Given the description of an element on the screen output the (x, y) to click on. 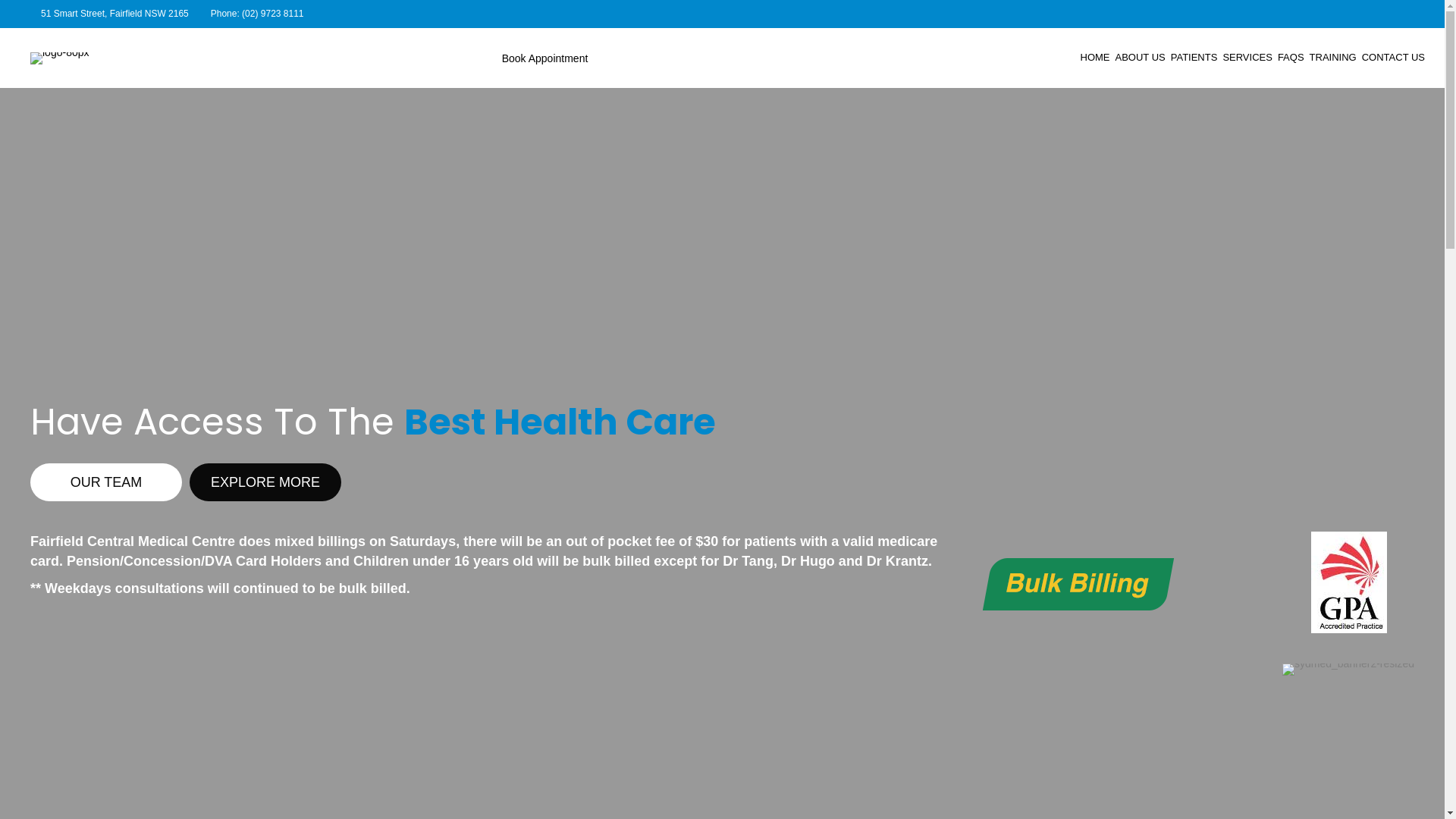
Phone: (02) 9723 8111 Element type: text (257, 14)
ABOUT US Element type: text (1140, 57)
Book Appointment Element type: text (545, 58)
gpa-logo-2 Element type: hover (1348, 582)
TRAINING Element type: text (1332, 57)
MyHealth-Bulk-Bills Element type: hover (1078, 584)
sydmed_banner2-resized Element type: hover (1348, 669)
HOME Element type: text (1094, 57)
EXPLORE MORE Element type: text (265, 482)
OUR TEAM Element type: text (106, 482)
logo-80px Element type: hover (59, 58)
51 Smart Street, Fairfield NSW 2165 Element type: text (114, 14)
PATIENTS Element type: text (1194, 57)
CONTACT US Element type: text (1393, 57)
FAQS Element type: text (1291, 57)
SERVICES Element type: text (1247, 57)
